Given the description of an element on the screen output the (x, y) to click on. 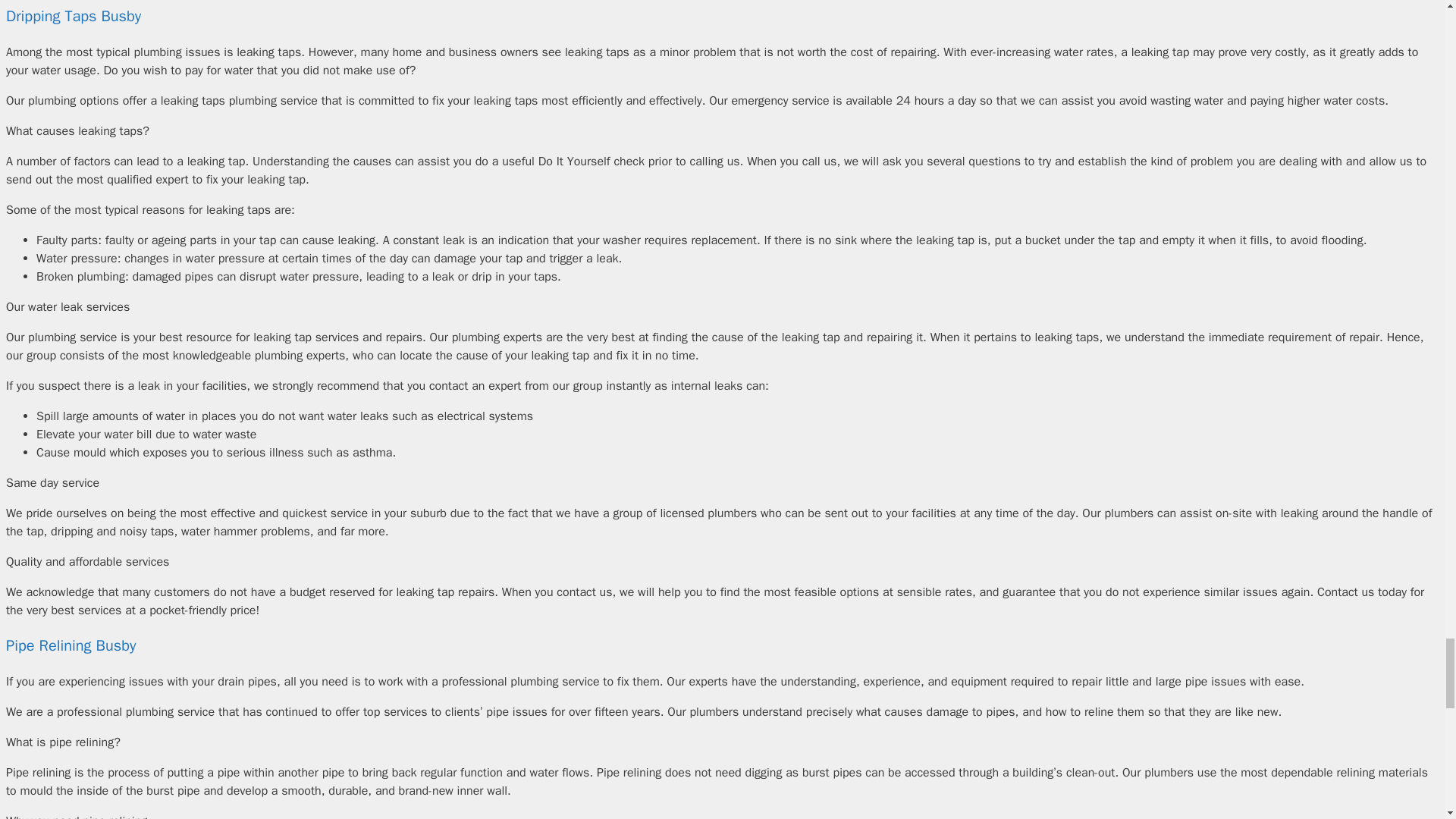
Pipe Relining Busby (70, 645)
Dripping Taps Busby (73, 15)
